Given the description of an element on the screen output the (x, y) to click on. 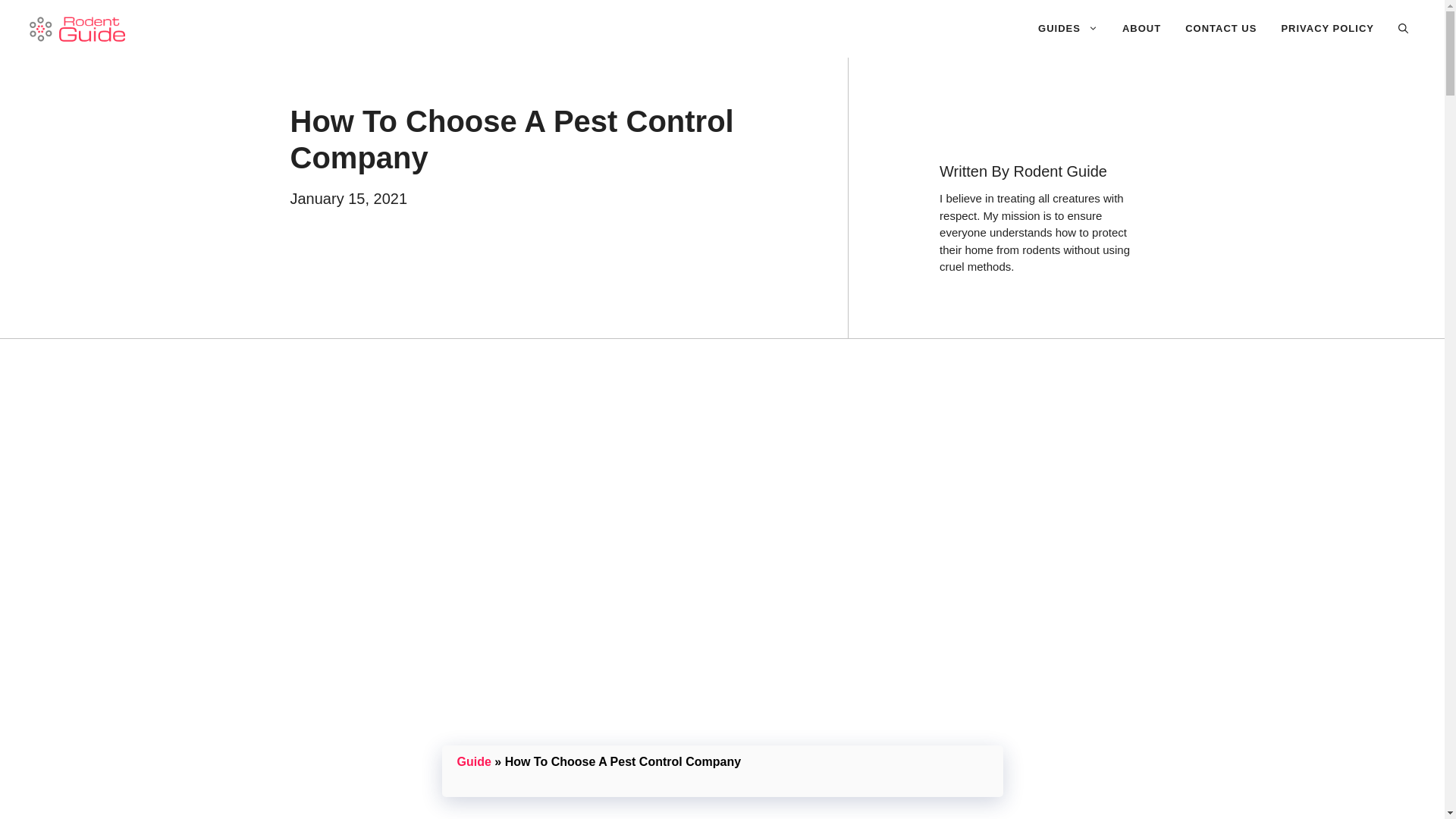
PRIVACY POLICY (1327, 28)
GUIDES (1067, 28)
Guide (473, 761)
ABOUT (1141, 28)
CONTACT US (1220, 28)
